Given the description of an element on the screen output the (x, y) to click on. 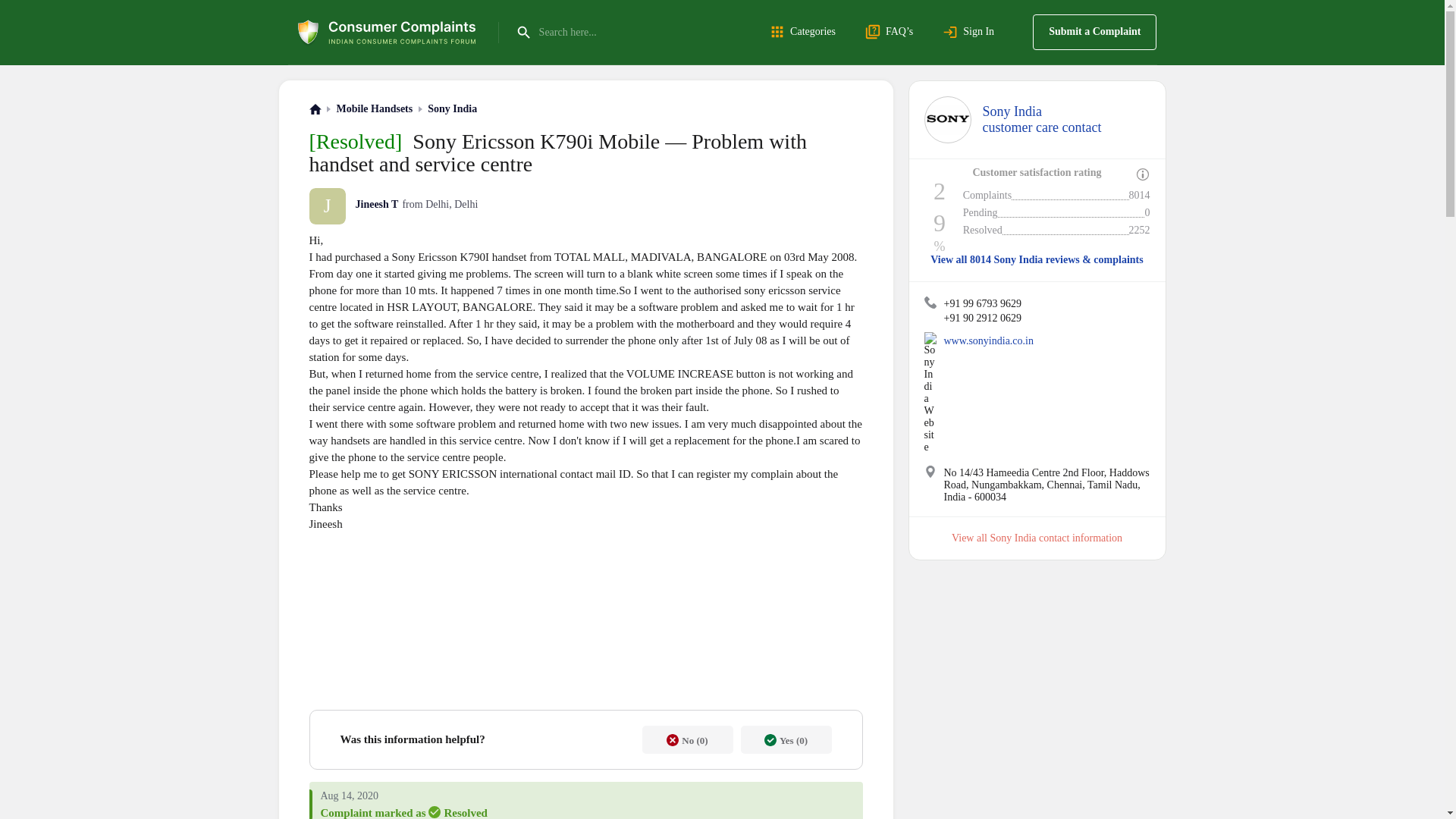
Submit a Complaint (1042, 119)
Sony India (1094, 31)
Sony India Customer Care Service (452, 109)
Mobile Handsets (947, 119)
Sony India Address (374, 109)
Sony India Phone (929, 471)
Categories (929, 302)
Sign In (805, 31)
